Given the description of an element on the screen output the (x, y) to click on. 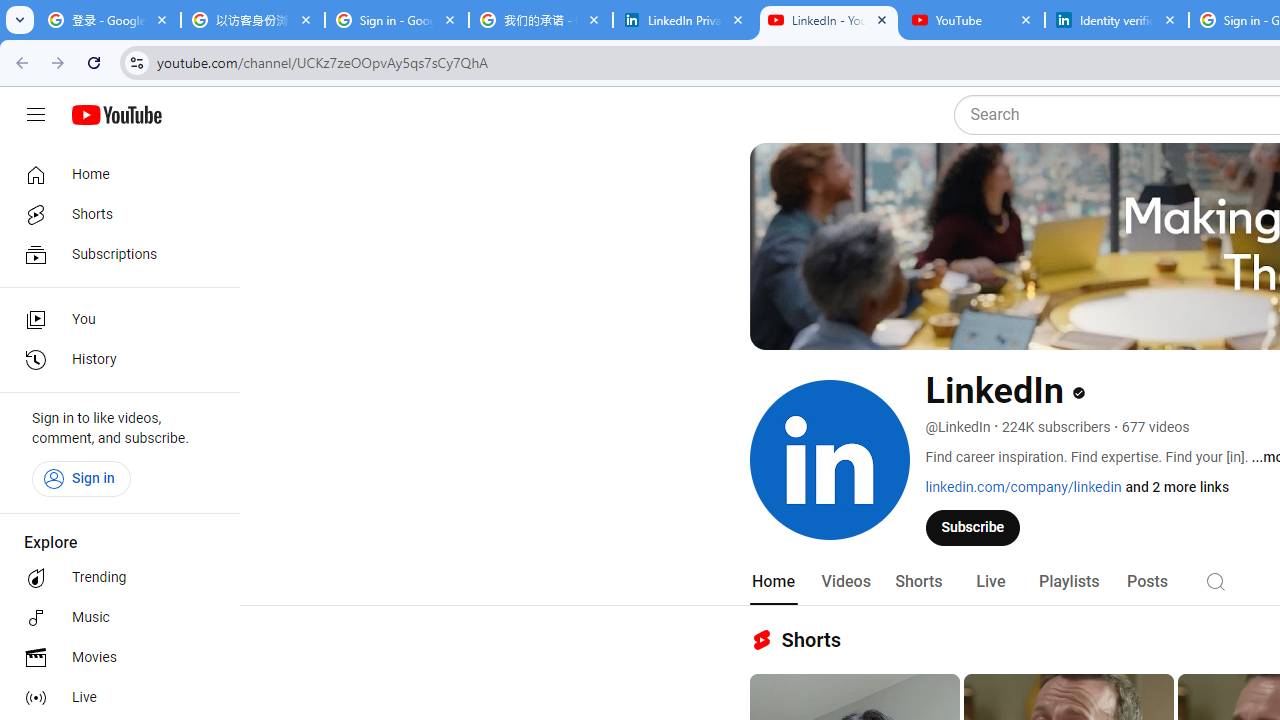
Trending (113, 578)
YouTube Home (116, 115)
Subscriptions (113, 254)
Shorts (918, 581)
Movies (113, 657)
Search tabs (20, 20)
Playlists (1068, 581)
History (113, 359)
Identity verification via Persona | LinkedIn Help (1116, 20)
Sign in - Google Accounts (396, 20)
Reload (93, 62)
Music (113, 617)
Forward (57, 62)
Sign in (81, 478)
